Given the description of an element on the screen output the (x, y) to click on. 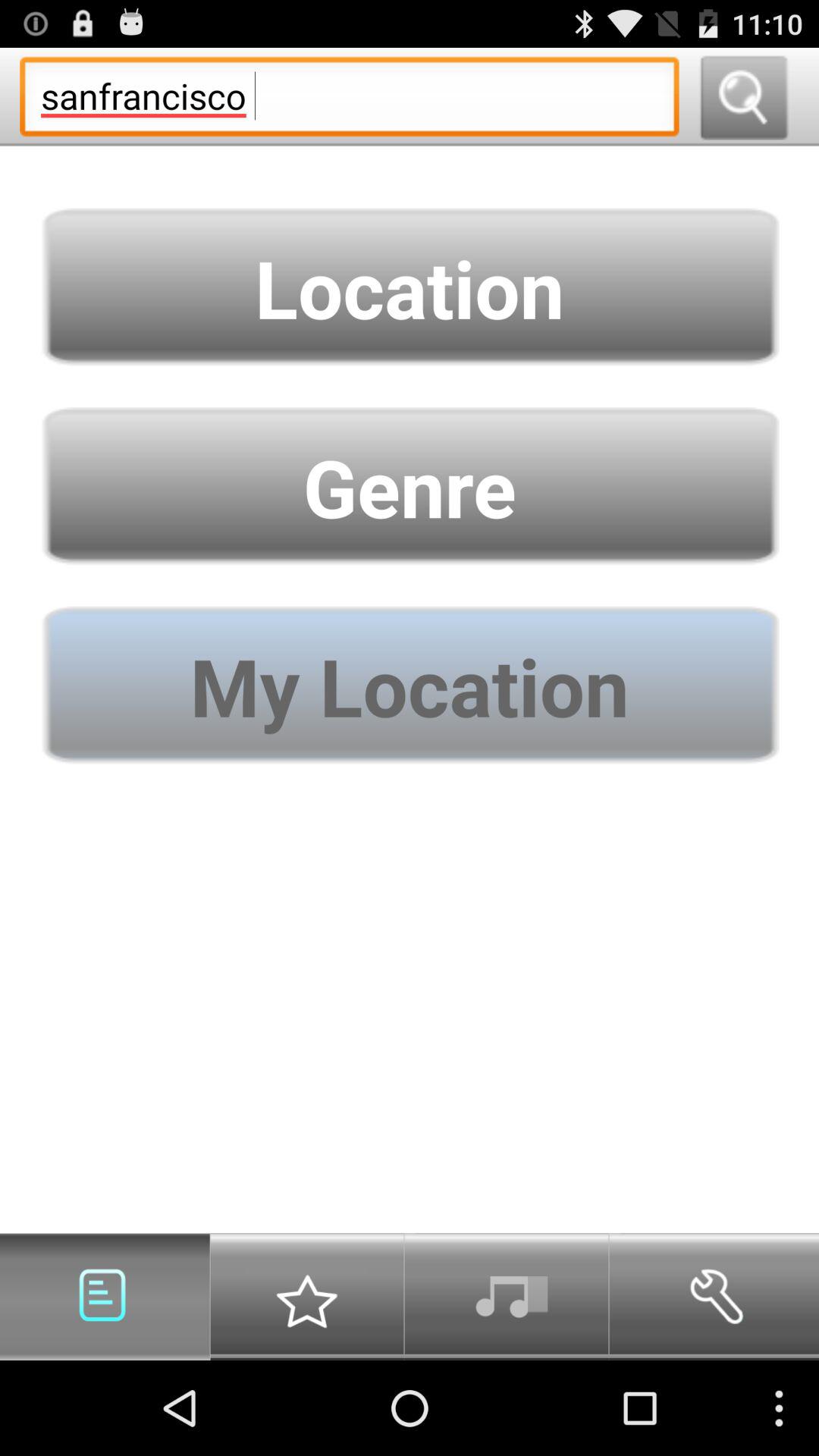
go to search (743, 96)
